Given the description of an element on the screen output the (x, y) to click on. 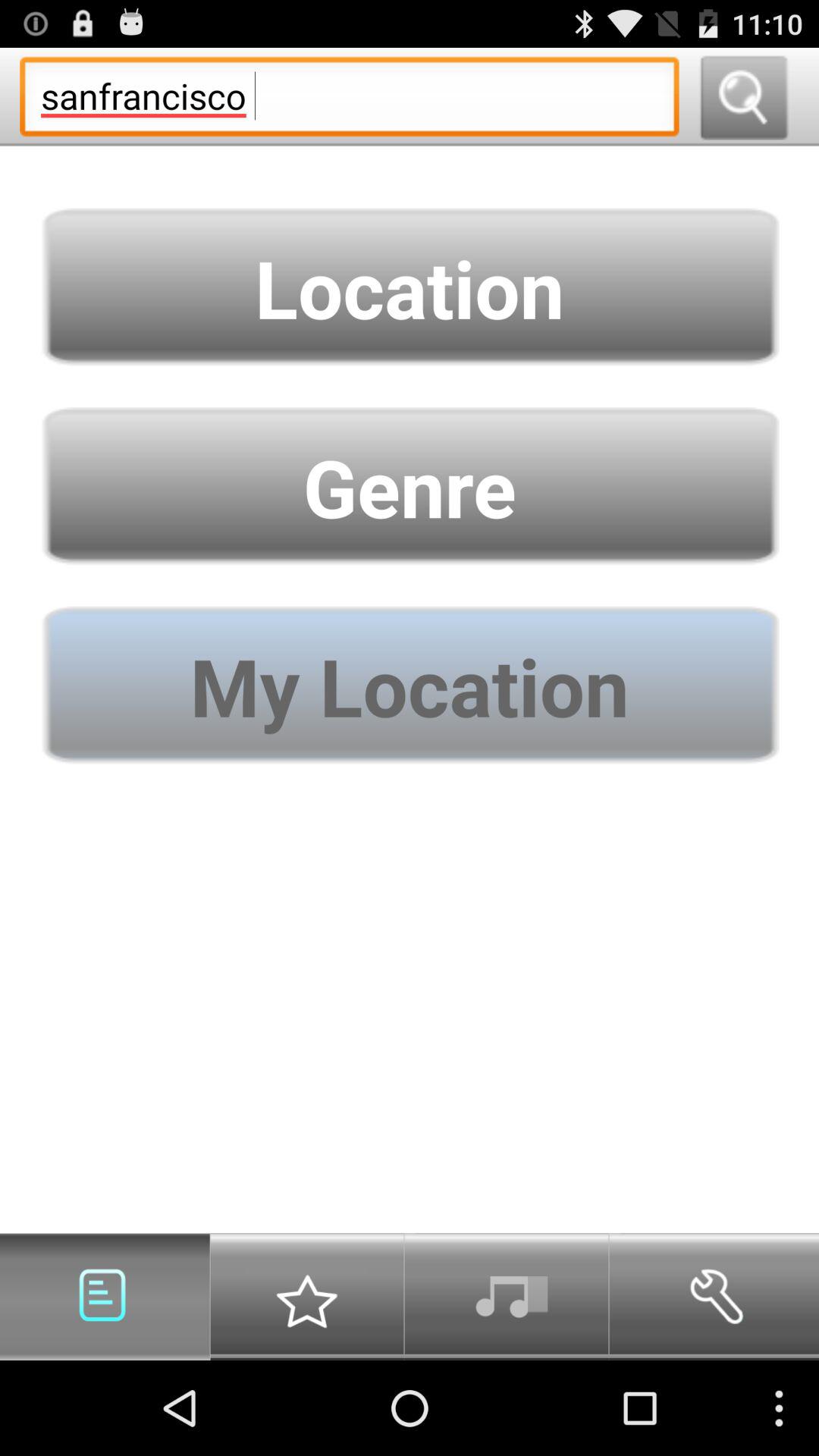
go to search (743, 96)
